Given the description of an element on the screen output the (x, y) to click on. 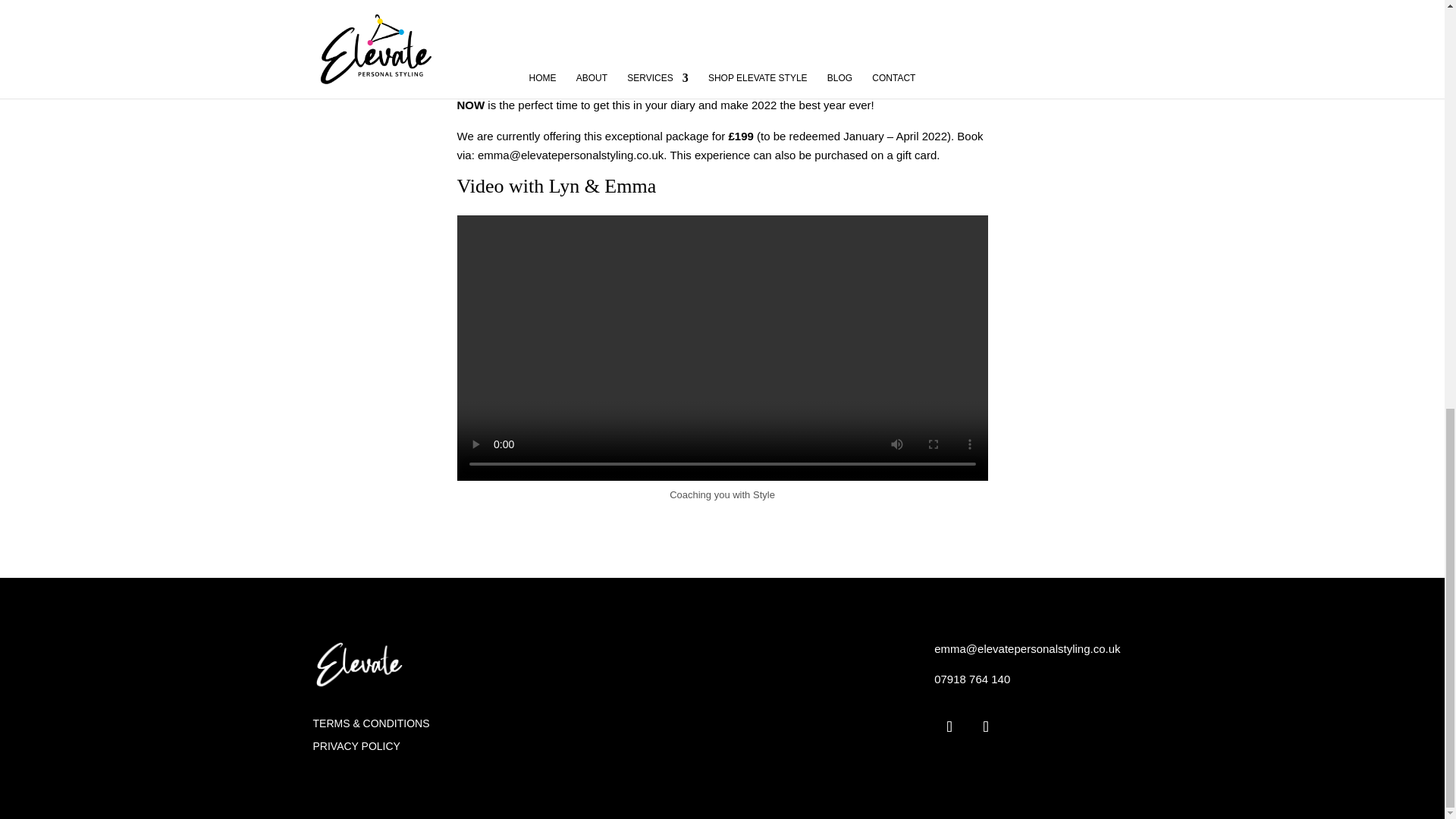
07918 764 140 (972, 678)
Follow on Instagram (948, 726)
PRIVACY POLICY (355, 749)
Follow on Facebook (986, 726)
